Given the description of an element on the screen output the (x, y) to click on. 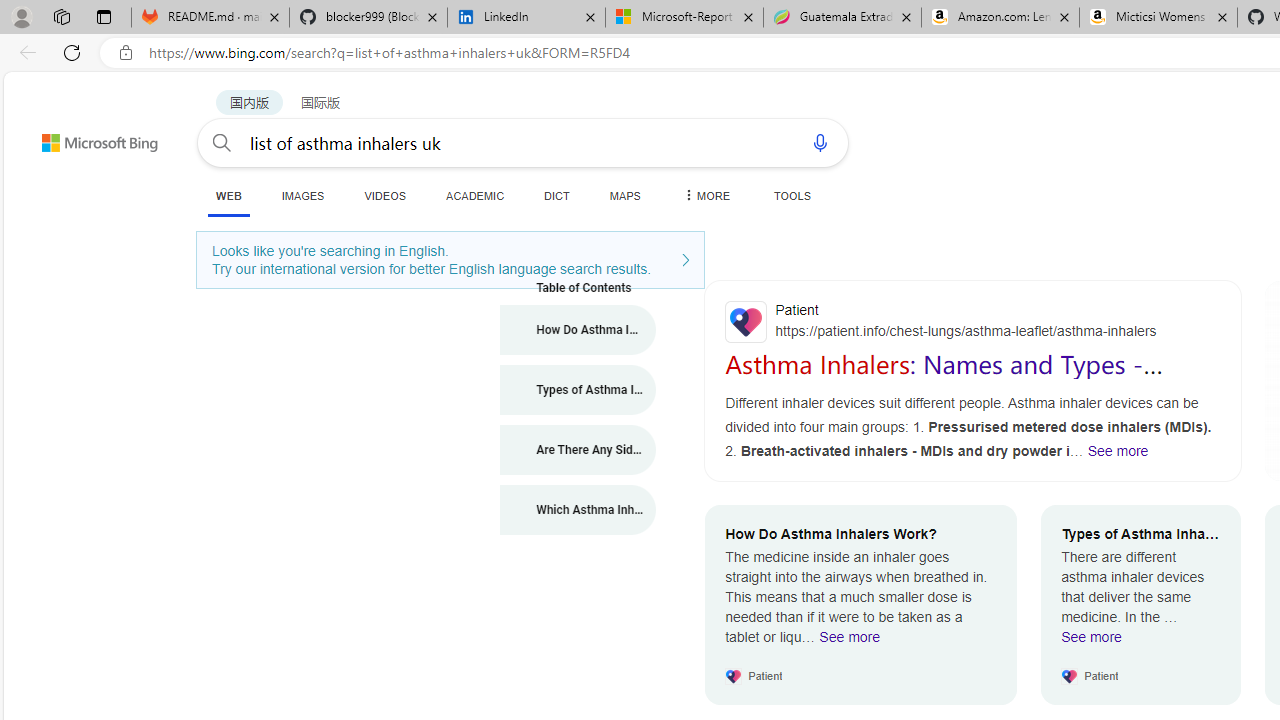
ACADEMIC (475, 195)
WEB (228, 196)
Are There Any Side-Effects from Asthma Inhalers? (578, 449)
ACADEMIC (475, 195)
Which Asthma Inhaler Device Should I use? (578, 509)
MORE (705, 195)
LinkedIn (526, 17)
